Given the description of an element on the screen output the (x, y) to click on. 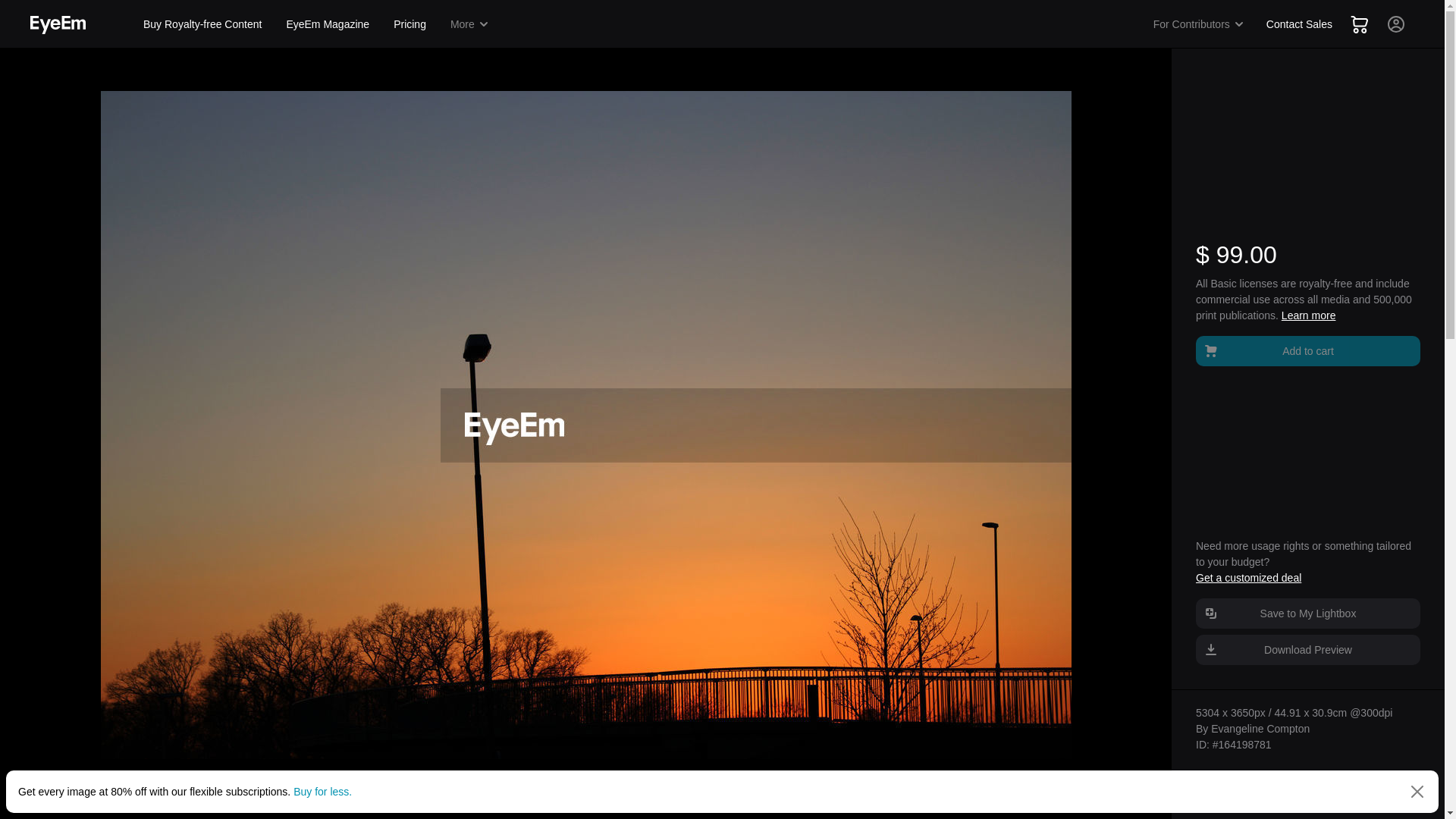
More (470, 24)
Cart (1358, 24)
Pricing (409, 24)
Learn more (1308, 315)
For Contributors (1198, 24)
Download Preview (1308, 649)
Buy for less. (323, 791)
Buy Royalty-free Content (201, 24)
Add to cart (1308, 349)
EyeEm Magazine (327, 24)
